Given the description of an element on the screen output the (x, y) to click on. 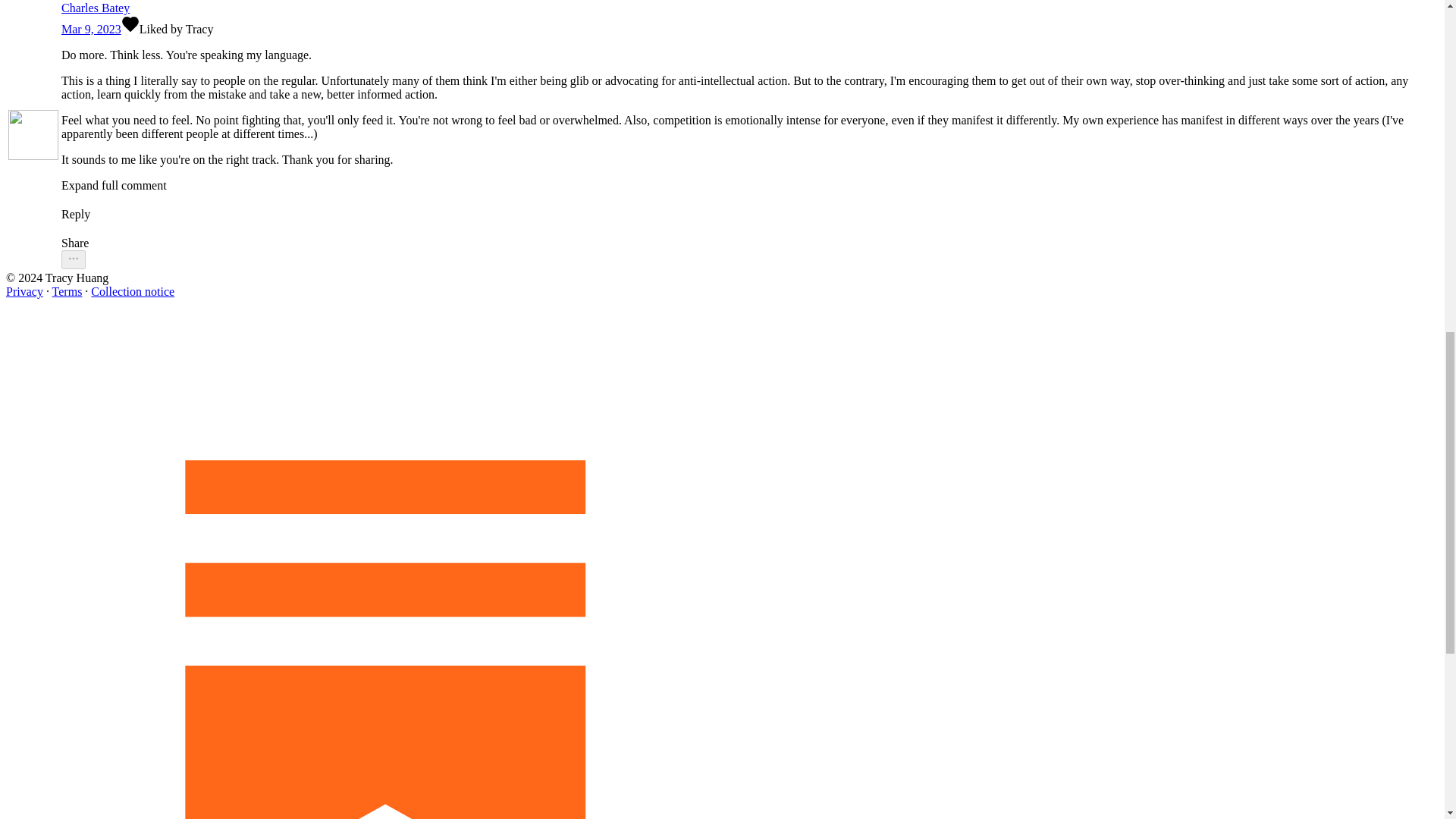
Collection notice (132, 291)
Mar 9, 2023 (90, 29)
Terms (67, 291)
Privacy (24, 291)
